Given the description of an element on the screen output the (x, y) to click on. 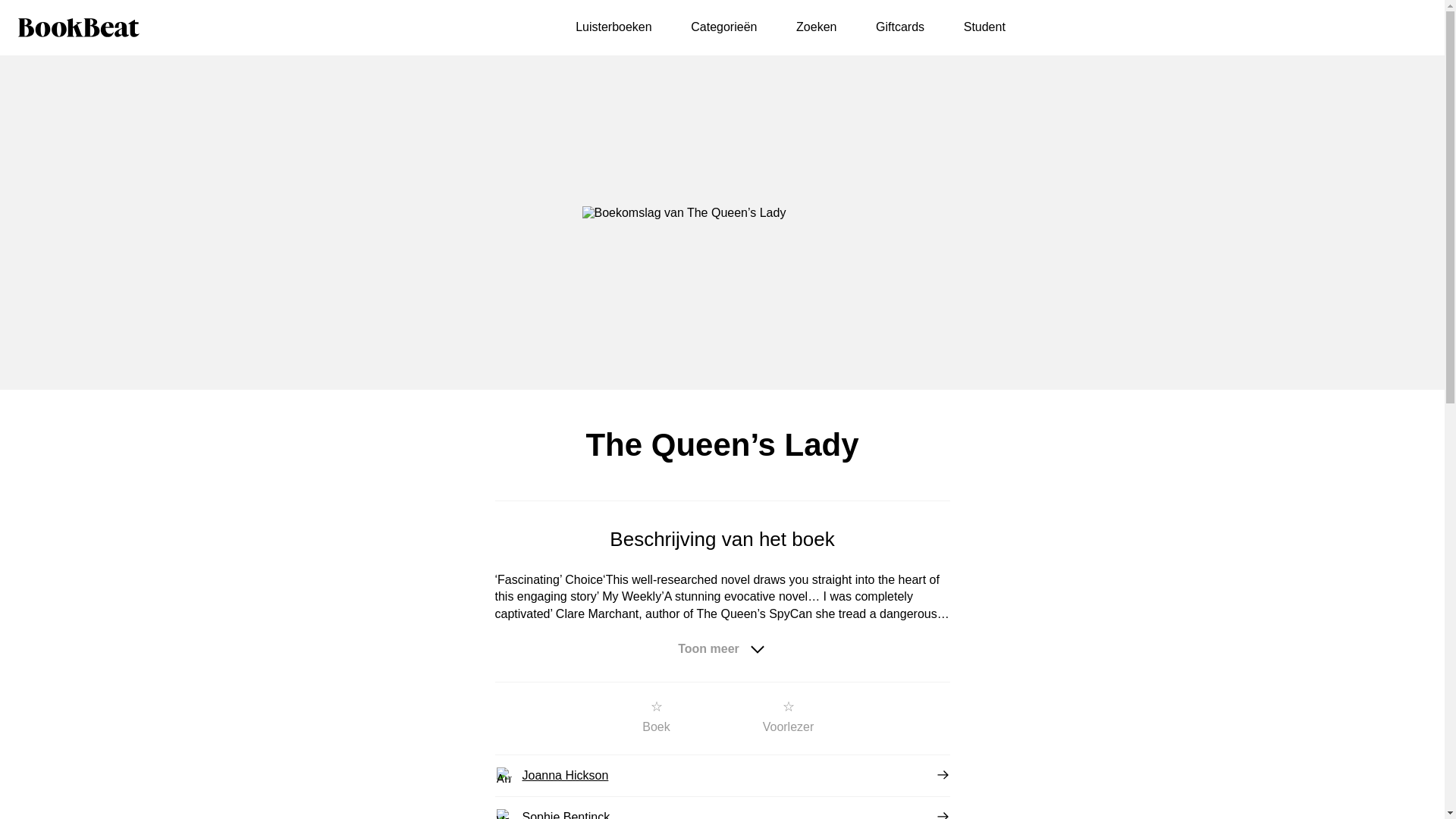
Luisterboeken (613, 27)
Joanna Hickson (722, 775)
Toon meer (722, 648)
Sophie Bentinck (722, 807)
Student (984, 27)
Zoeken (815, 27)
Giftcards (900, 27)
